Given the description of an element on the screen output the (x, y) to click on. 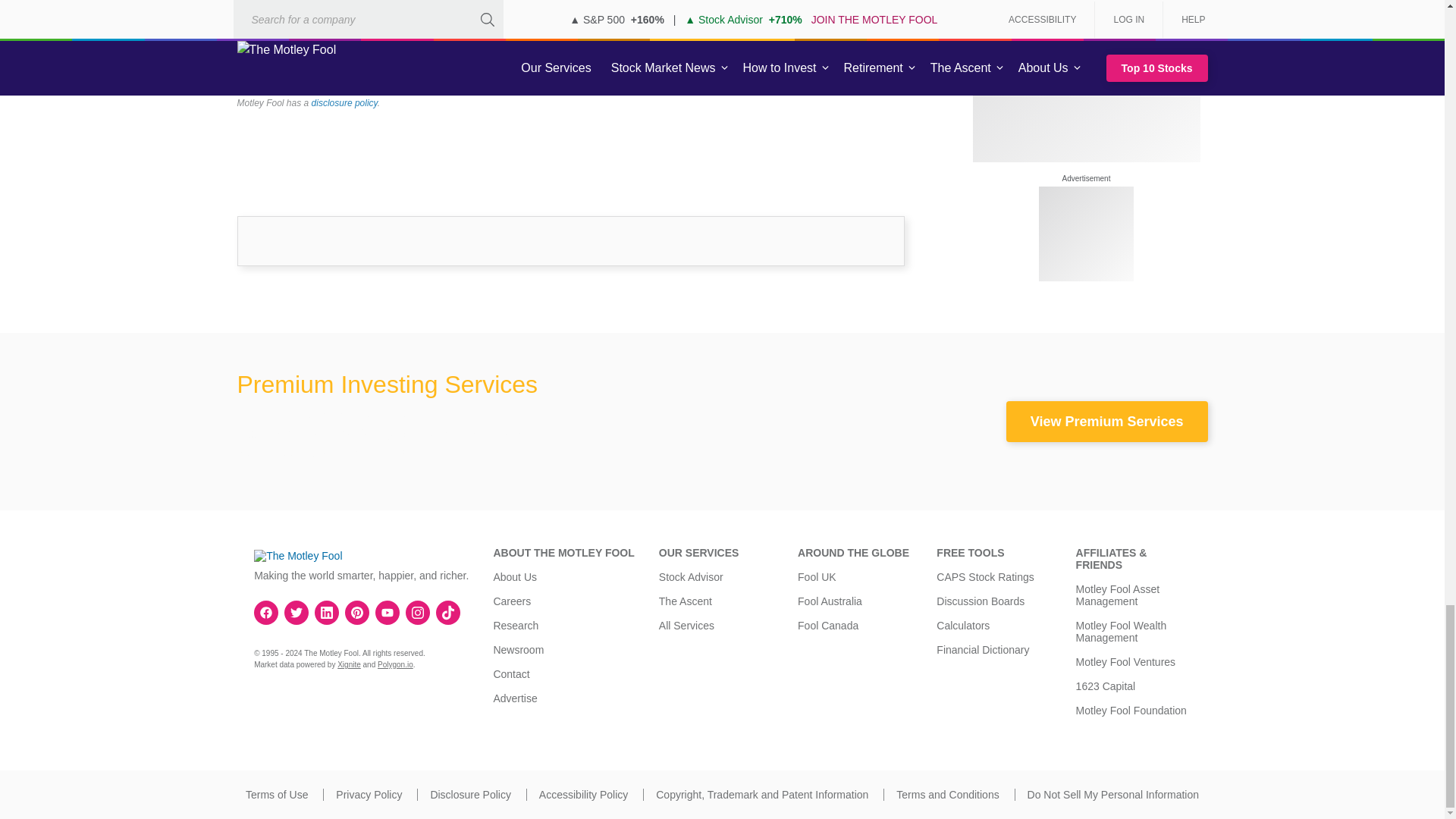
Copyright, Trademark and Patent Information (761, 794)
Do Not Sell My Personal Information. (1112, 794)
Privacy Policy (368, 794)
Terms of Use (276, 794)
Accessibility Policy (582, 794)
Terms and Conditions (947, 794)
Disclosure Policy (470, 794)
